Given the description of an element on the screen output the (x, y) to click on. 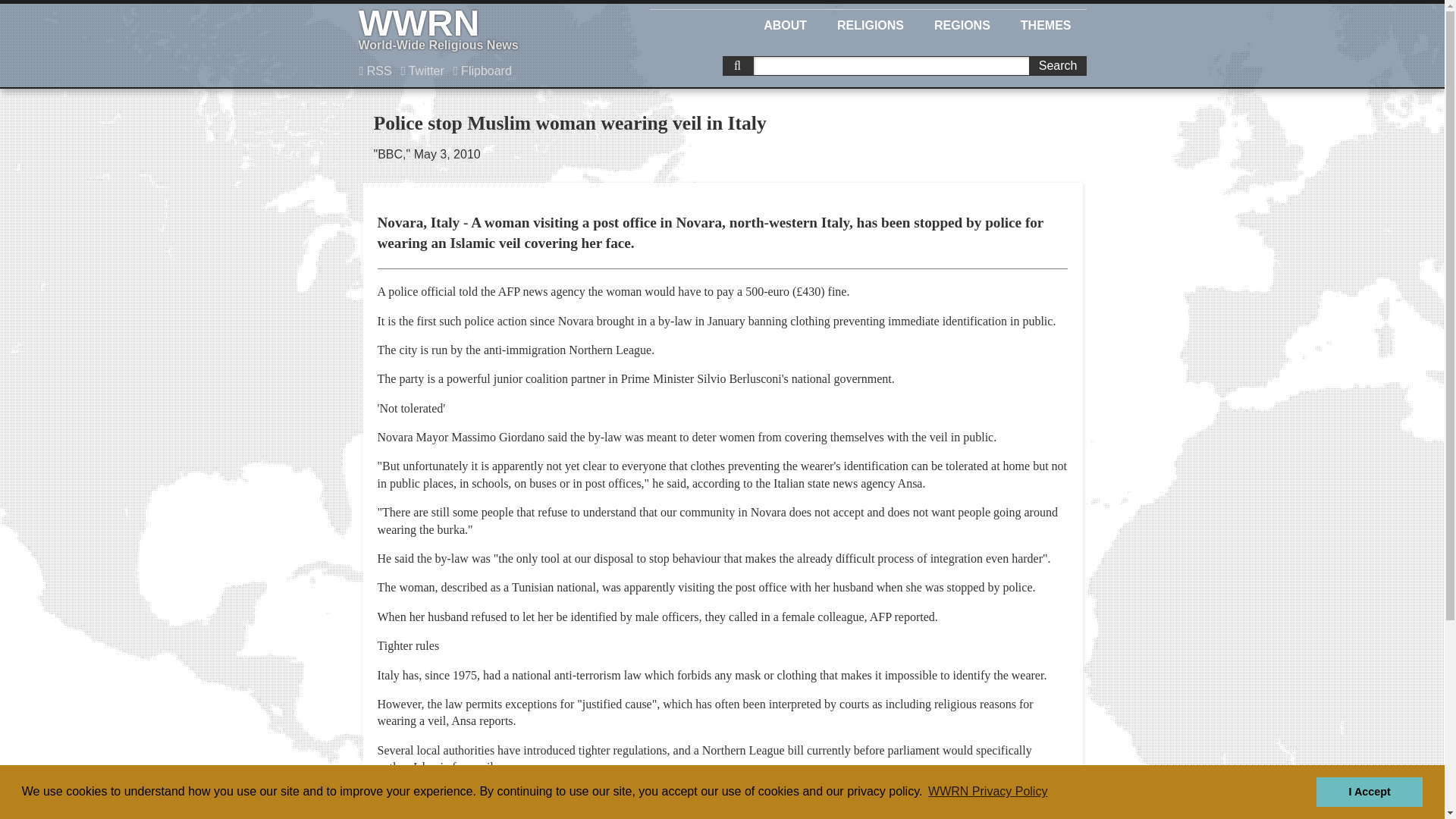
WWRN Privacy Policy (987, 791)
Twitter (422, 70)
ABOUT (785, 23)
Search (1057, 66)
RSS (374, 70)
REGIONS (485, 31)
Flipboard (962, 23)
RELIGIONS (482, 70)
I Accept (870, 23)
THEMES (1369, 791)
